Given the description of an element on the screen output the (x, y) to click on. 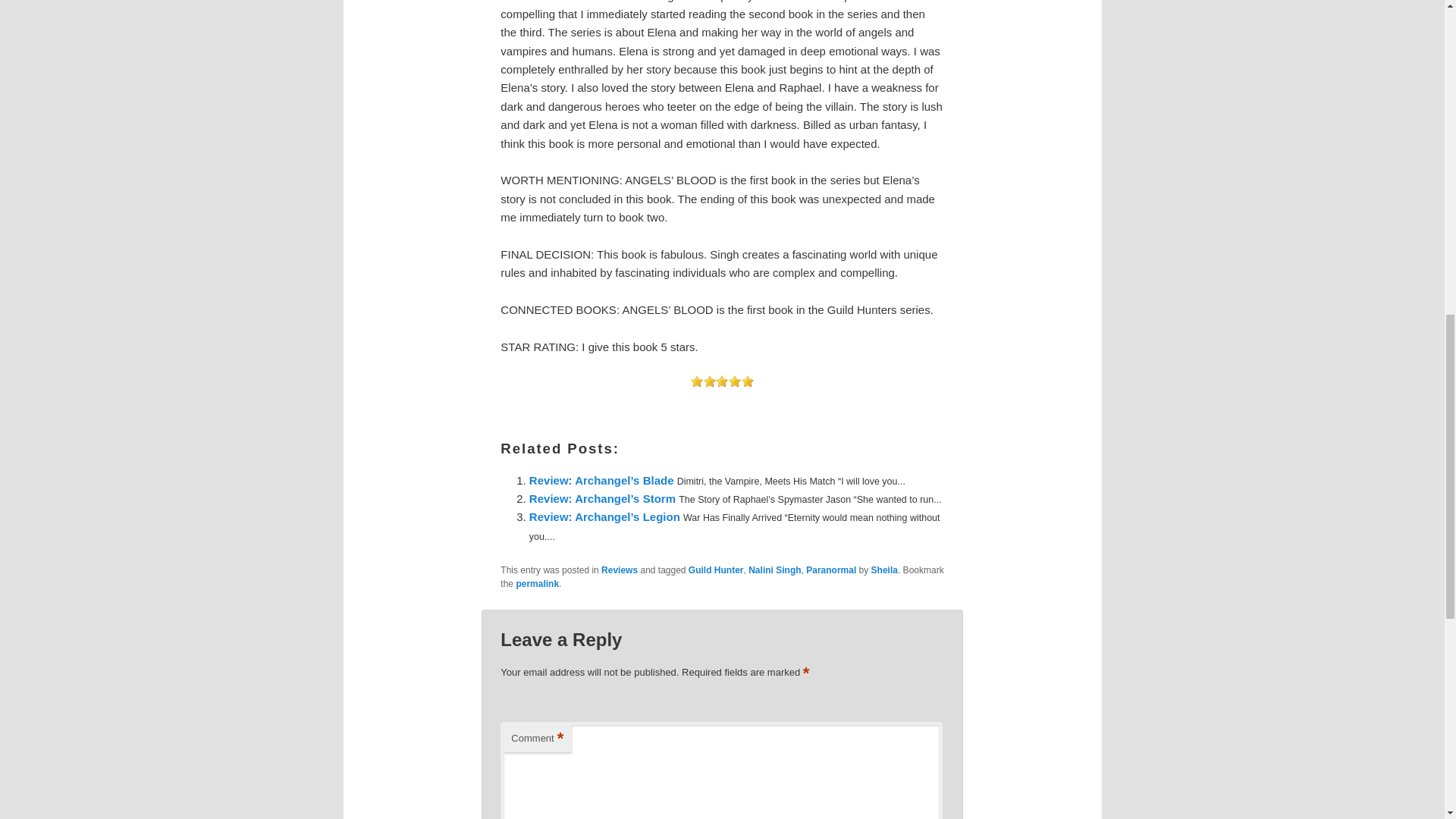
Guild Hunter (716, 570)
Paranormal (831, 570)
permalink (537, 583)
Sheila (884, 570)
Reviews (619, 570)
Nalini Singh (774, 570)
